Given the description of an element on the screen output the (x, y) to click on. 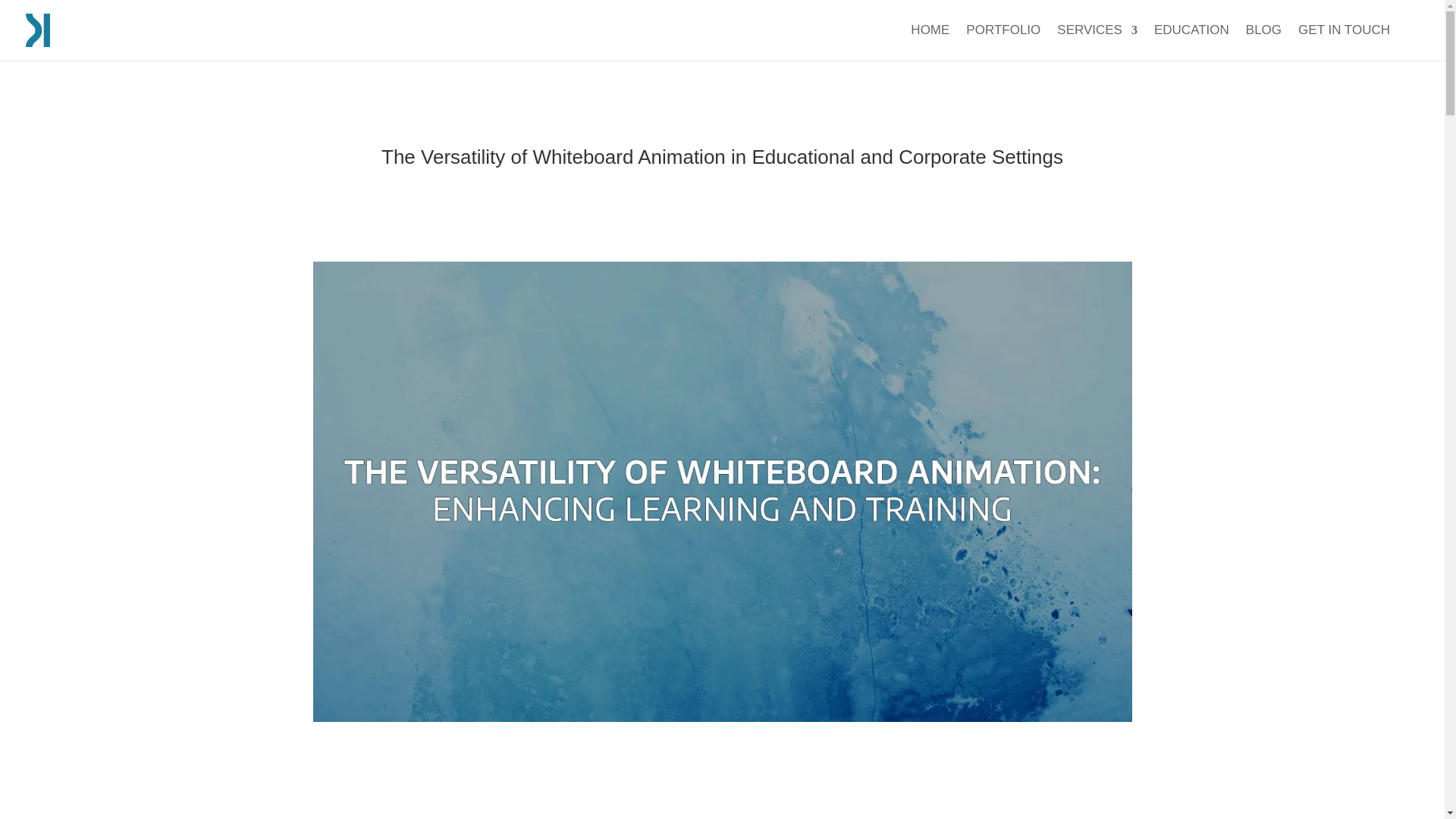
HOME (930, 42)
GET IN TOUCH (1344, 42)
EDUCATION (1191, 42)
Portfolio (1003, 42)
PORTFOLIO (1003, 42)
SERVICES (1097, 42)
BLOG (1263, 42)
